Given the description of an element on the screen output the (x, y) to click on. 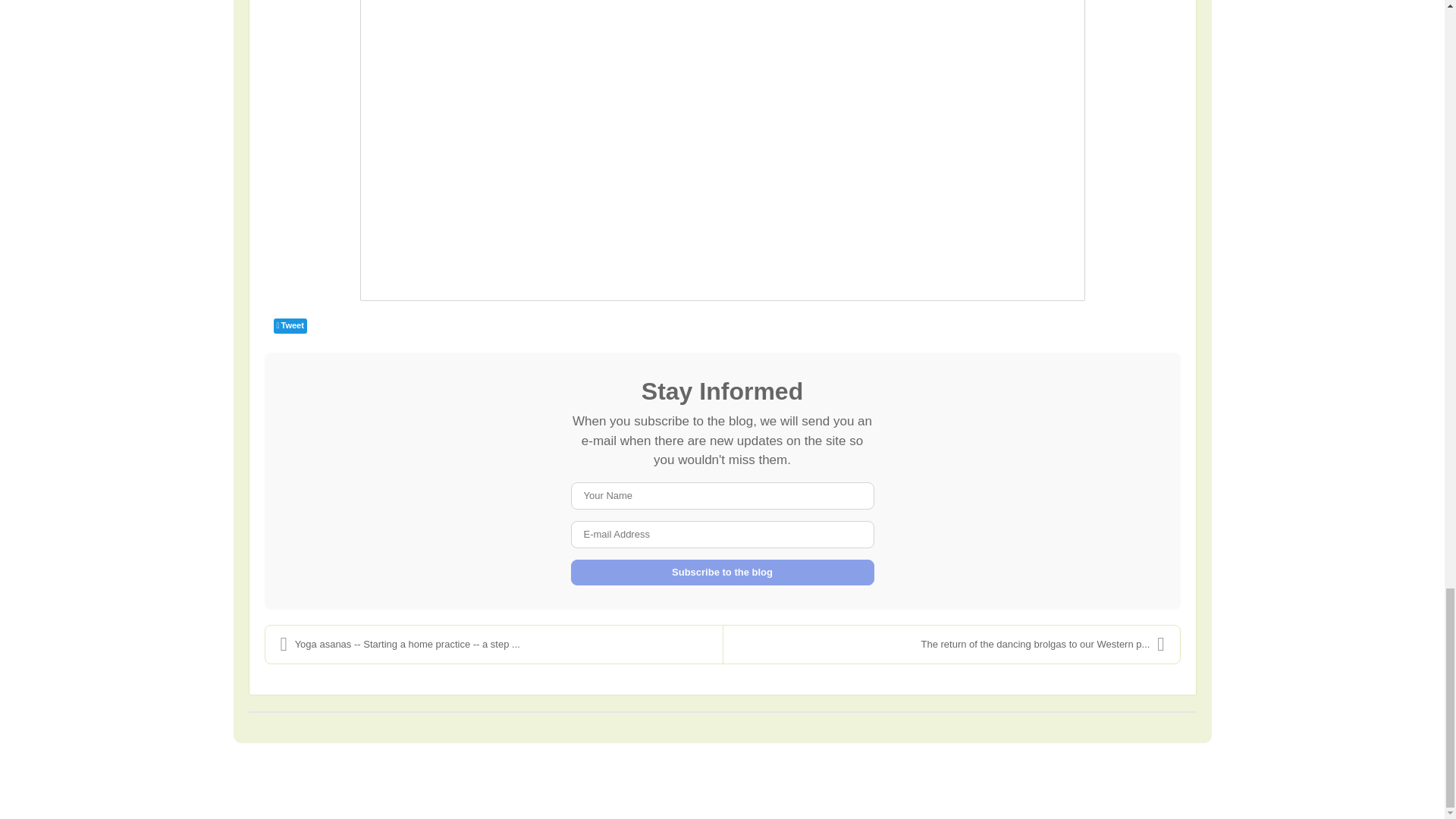
Subscribe to the blog (721, 572)
Tweet (289, 325)
